Given the description of an element on the screen output the (x, y) to click on. 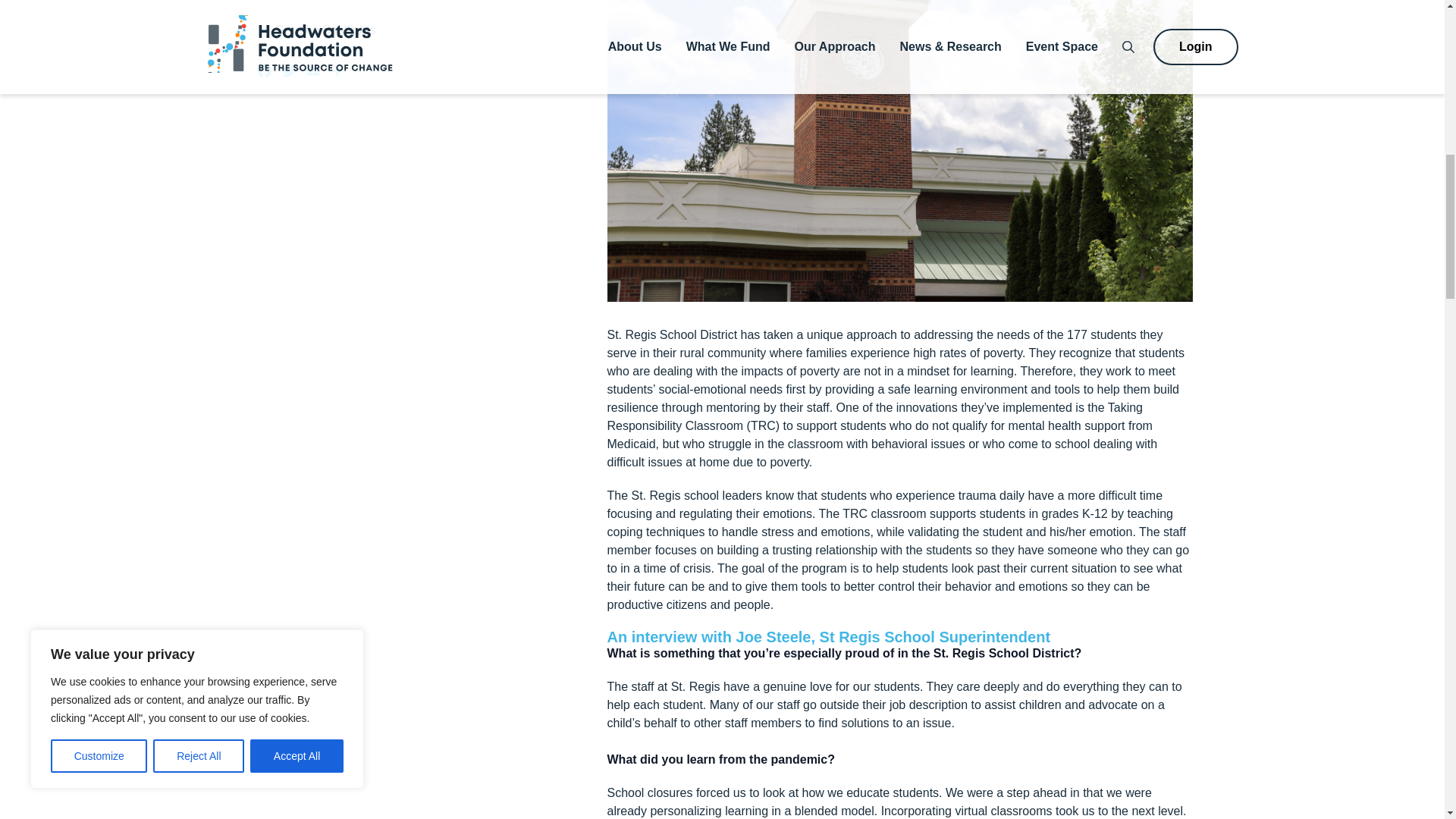
Email (311, 73)
Twitter (287, 73)
Facebook (263, 73)
